Given the description of an element on the screen output the (x, y) to click on. 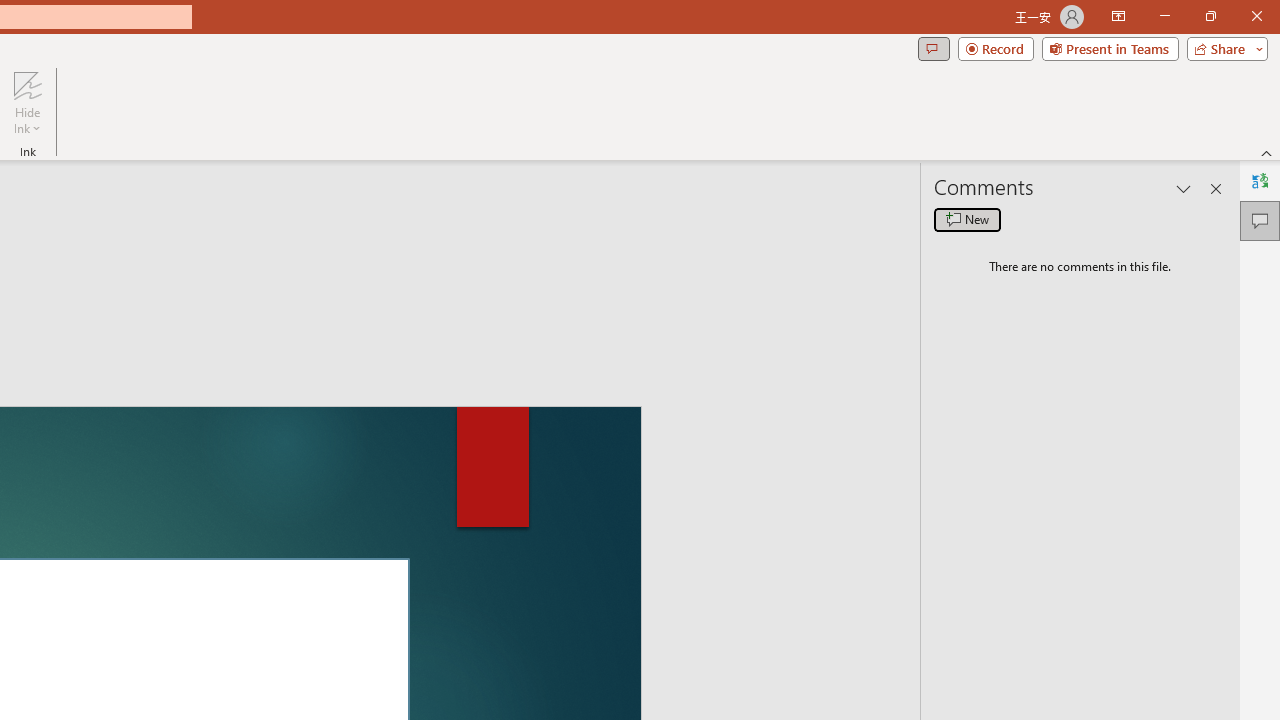
Close (1244, 32)
Header (92, 161)
Signature Line (658, 126)
Equation (823, 134)
Equation (823, 161)
Comments (943, 84)
Drop Cap (543, 161)
Signature Line (669, 126)
Line up (1267, 250)
Quick Parts (400, 161)
Object... (628, 196)
Share (1210, 84)
Date & Time... (651, 161)
Page Number (236, 161)
More Options (823, 186)
